Given the description of an element on the screen output the (x, y) to click on. 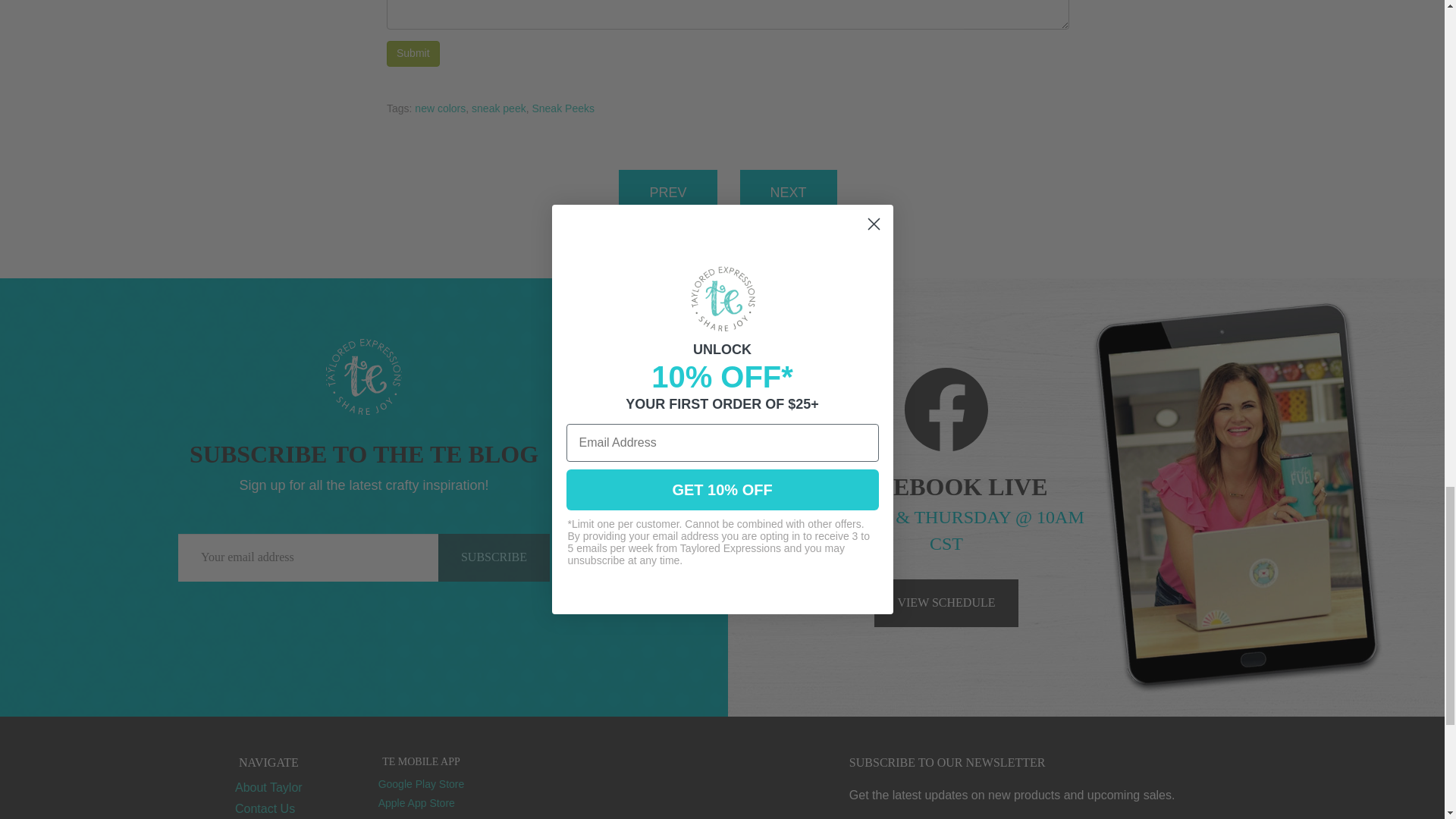
sneak peek (498, 108)
PREV (667, 192)
Sneak Peeks (562, 108)
NEXT (788, 192)
VIEW SCHEDULE (946, 603)
Submit (413, 53)
new colors (439, 108)
Subscribe (494, 557)
Subscribe (494, 557)
Submit (413, 53)
